Given the description of an element on the screen output the (x, y) to click on. 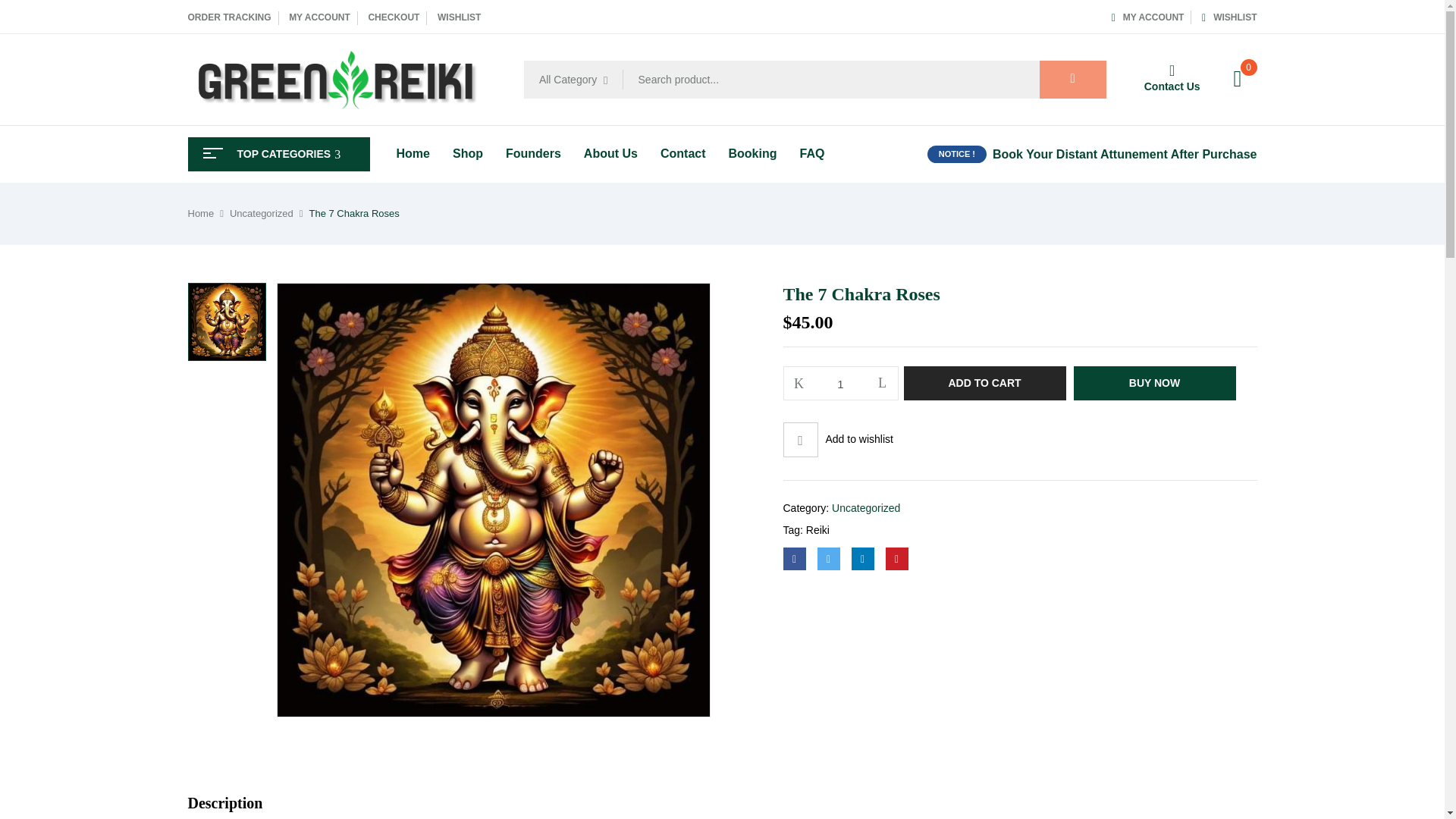
ORDER TRACKING (228, 17)
LinkedIn (861, 558)
Home (412, 153)
WISHLIST (459, 17)
Founders (532, 153)
search (1072, 79)
Twitter (828, 558)
Pinterest (896, 558)
Contact Us (1171, 77)
ed3fb6f91c79f949a94259bf0bcedde4 (225, 321)
1 (841, 383)
CHECKOUT (393, 17)
Shop (467, 153)
Facebook (794, 558)
MY ACCOUNT (1148, 17)
